Given the description of an element on the screen output the (x, y) to click on. 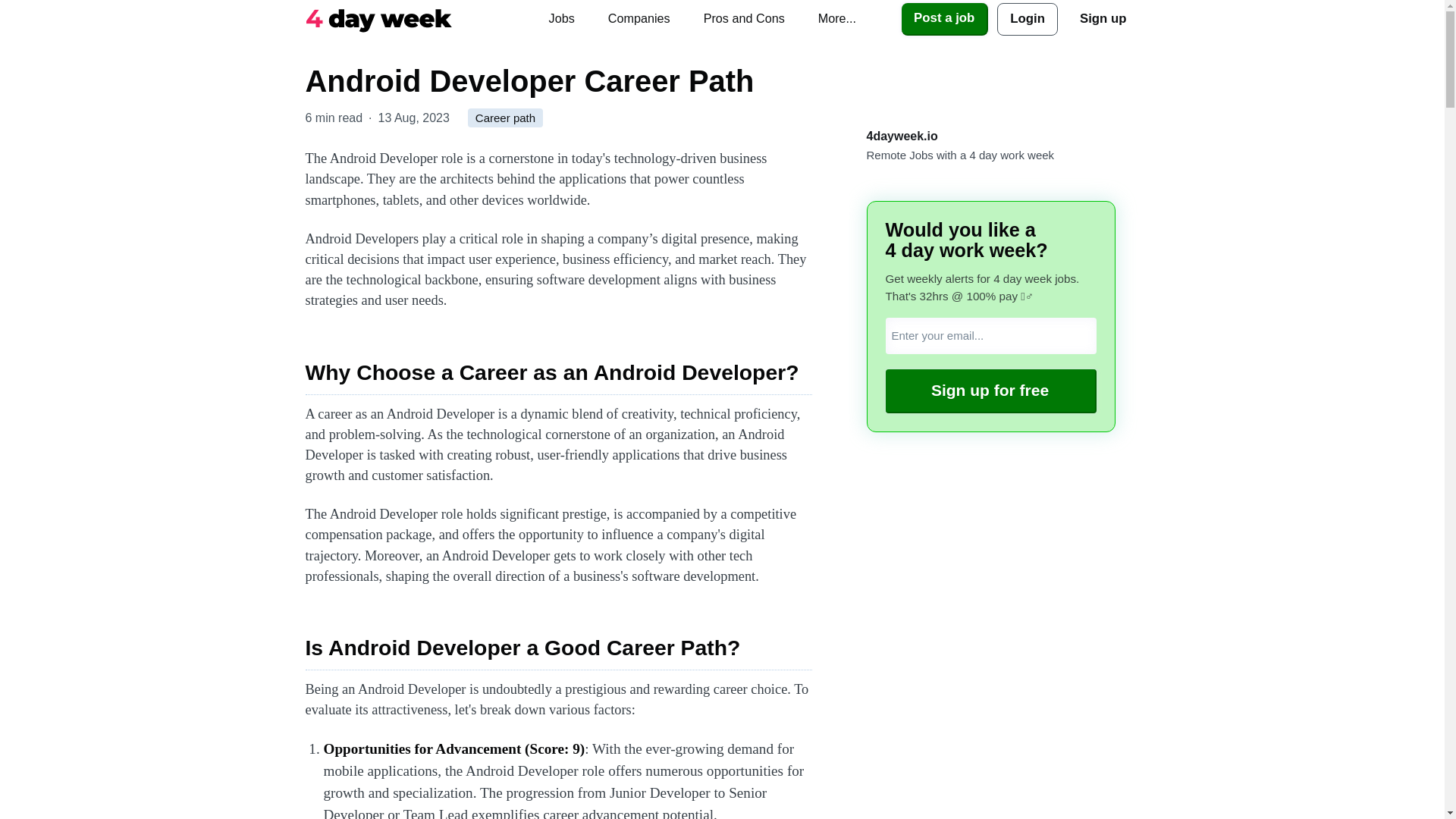
More... (836, 18)
Jobs (561, 18)
Companies (638, 18)
Pros and Cons (743, 18)
